Given the description of an element on the screen output the (x, y) to click on. 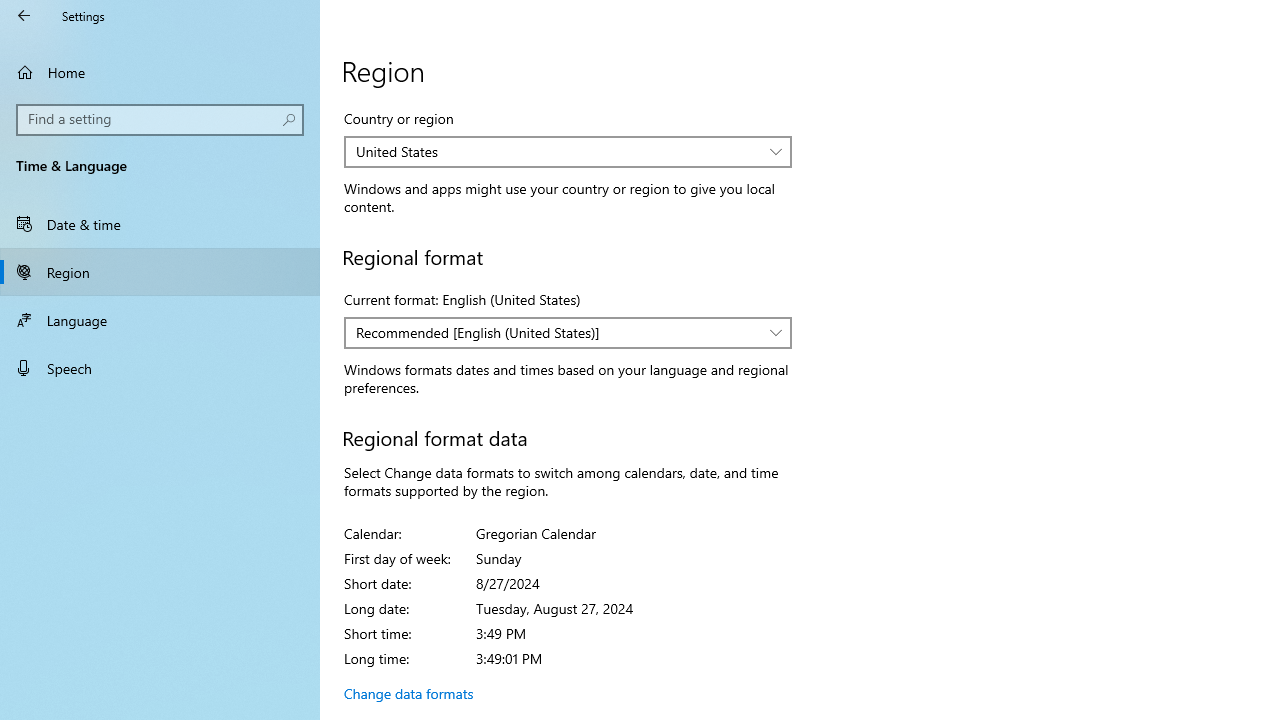
Date & time (160, 223)
Current format: English (United States) (568, 332)
Speech (160, 367)
Language (160, 319)
Country or region (568, 151)
Change data formats (408, 693)
Region (160, 271)
United States (557, 151)
Recommended [English (United States)] (557, 332)
